Given the description of an element on the screen output the (x, y) to click on. 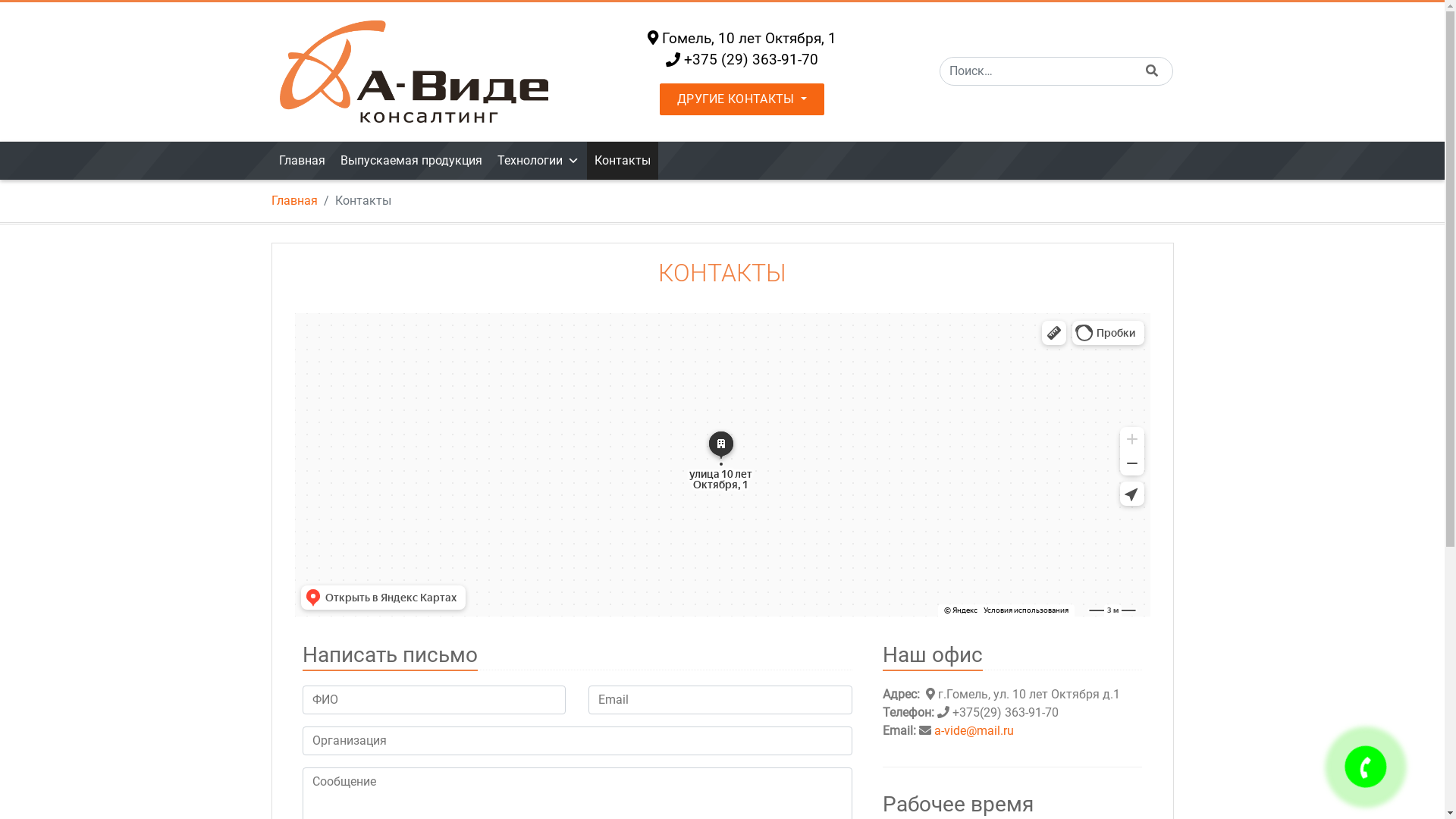
Search Element type: text (1151, 70)
+375 (29) 363-91-70 Element type: text (751, 59)
a-vide@mail.ru Element type: text (973, 730)
